Given the description of an element on the screen output the (x, y) to click on. 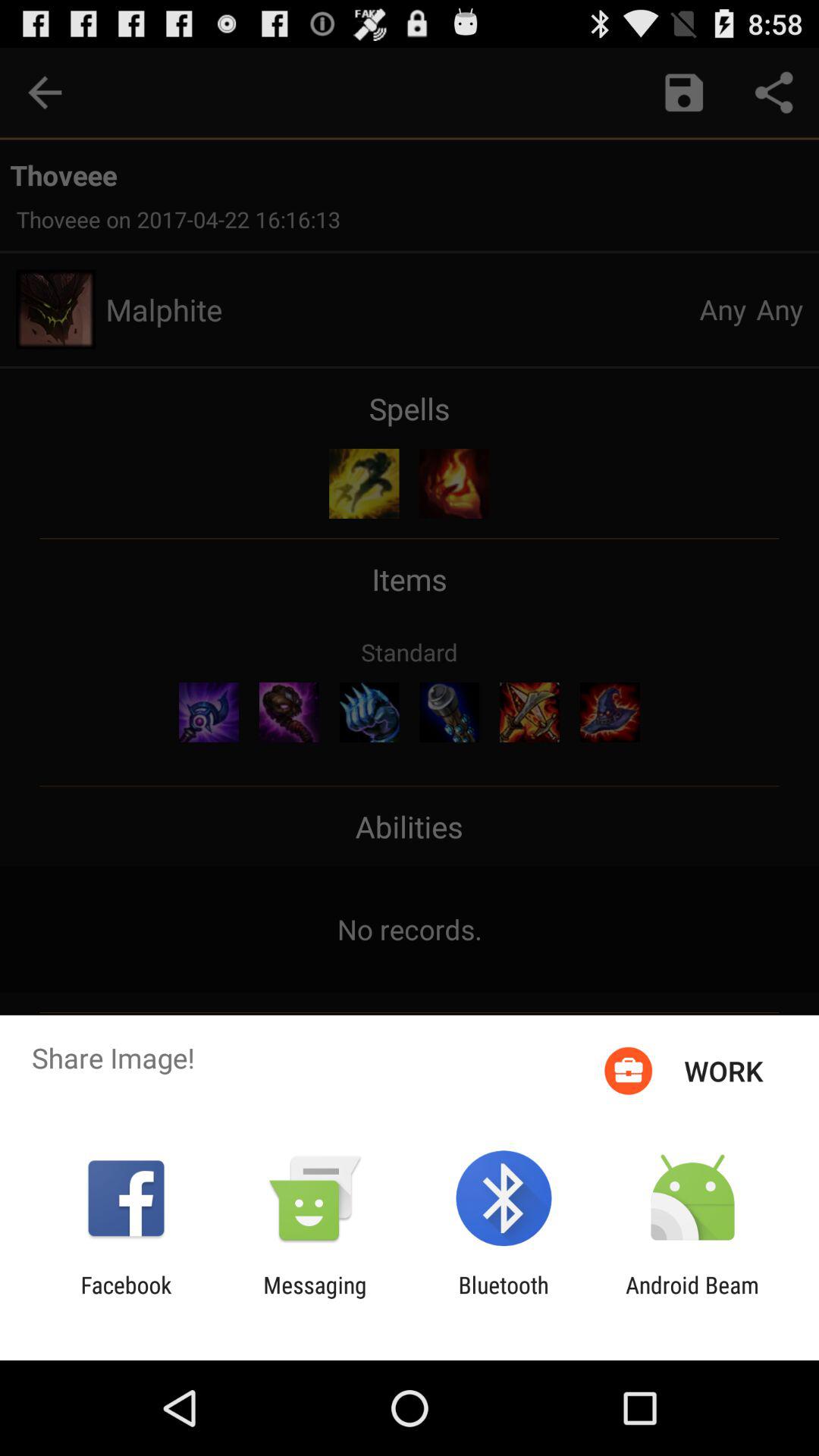
jump to the bluetooth (503, 1298)
